Given the description of an element on the screen output the (x, y) to click on. 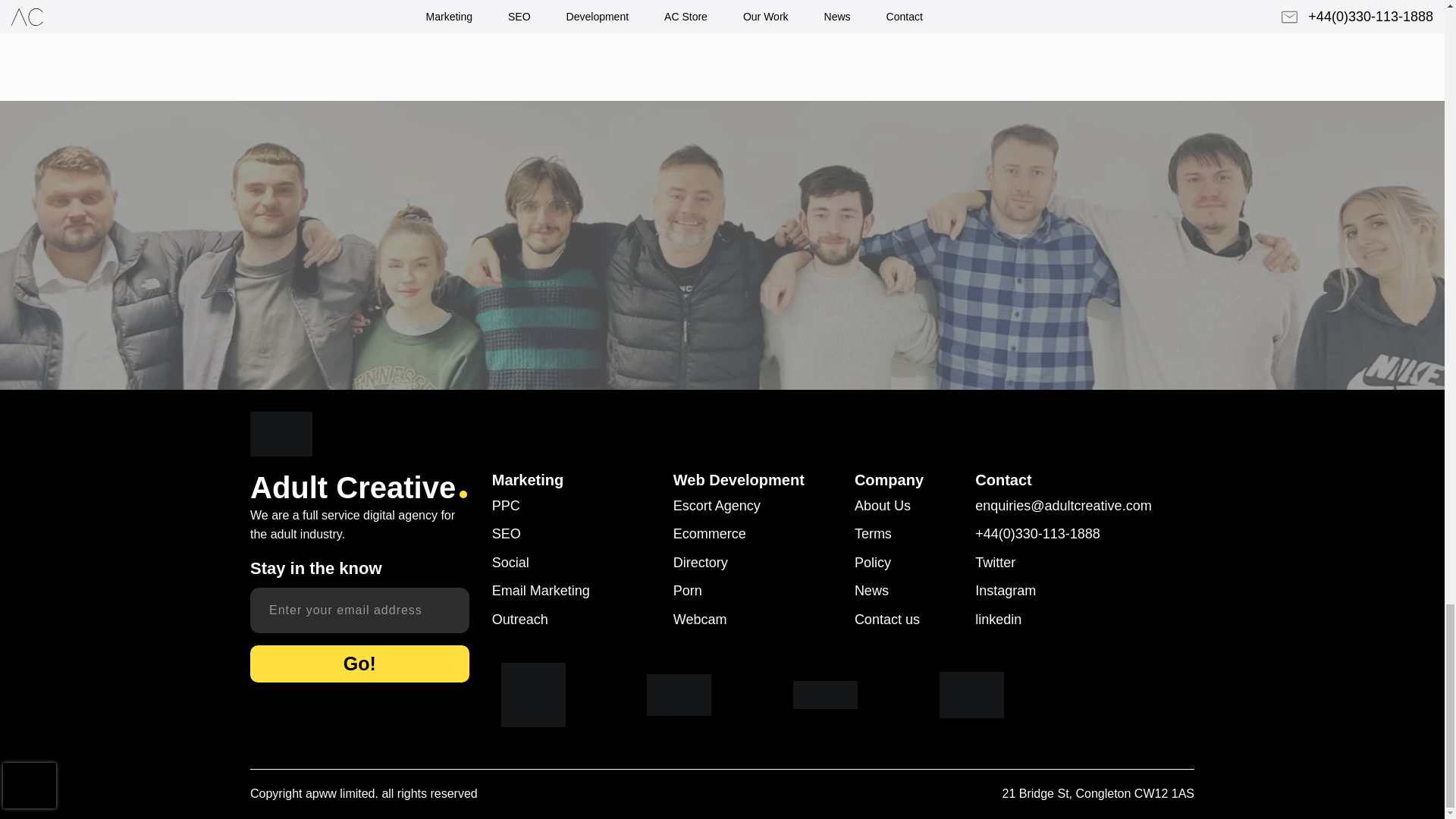
contact number (1084, 533)
Go! (359, 663)
contact number (1084, 505)
